Given the description of an element on the screen output the (x, y) to click on. 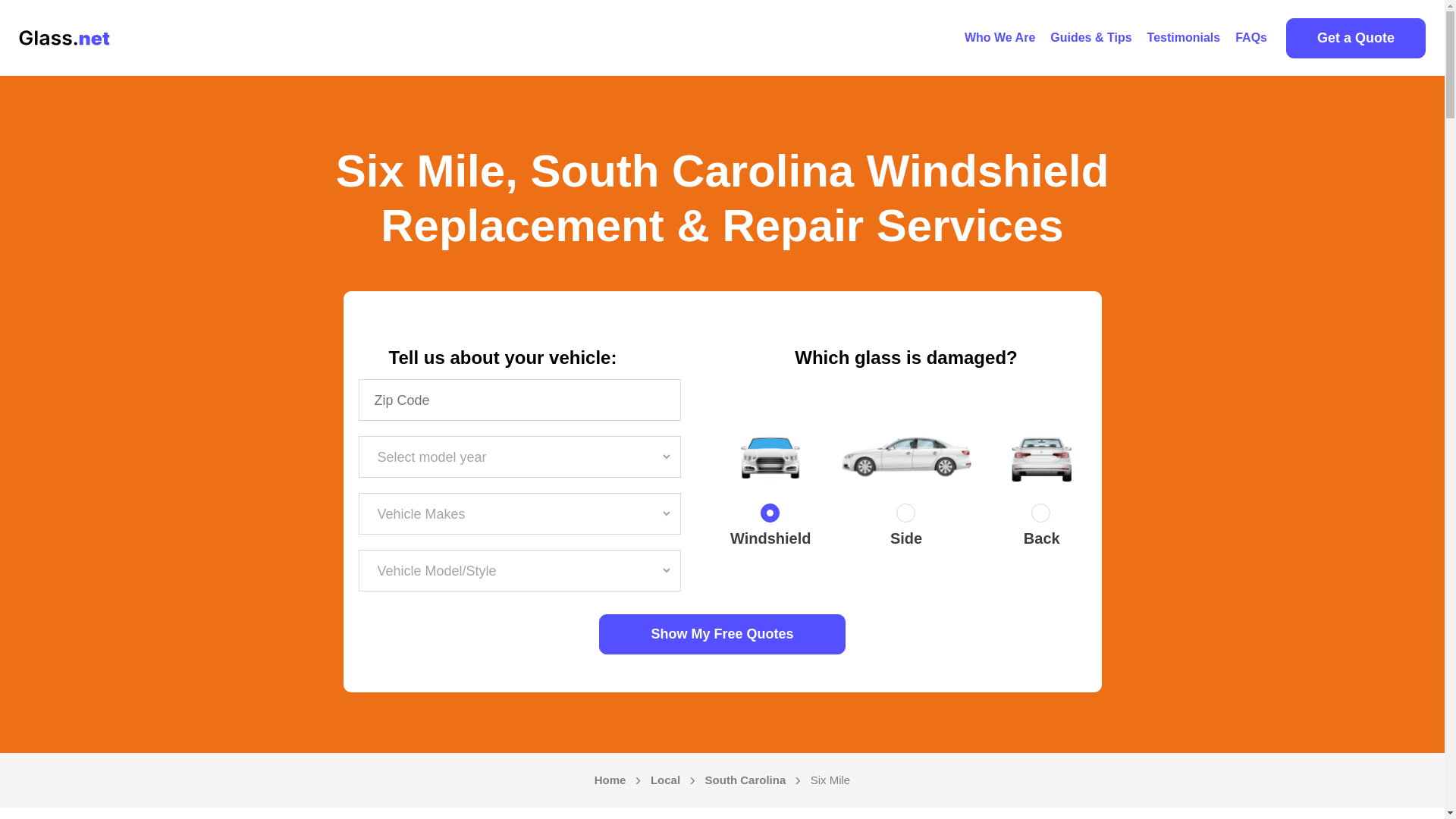
Testimonials (1184, 37)
back (1041, 516)
side (905, 516)
FAQs (1251, 37)
Get a Quote (1355, 38)
Testimonials (1184, 37)
South Carolina (745, 780)
front (770, 516)
A Market Place for Car Glass (999, 37)
Local (664, 780)
